Given the description of an element on the screen output the (x, y) to click on. 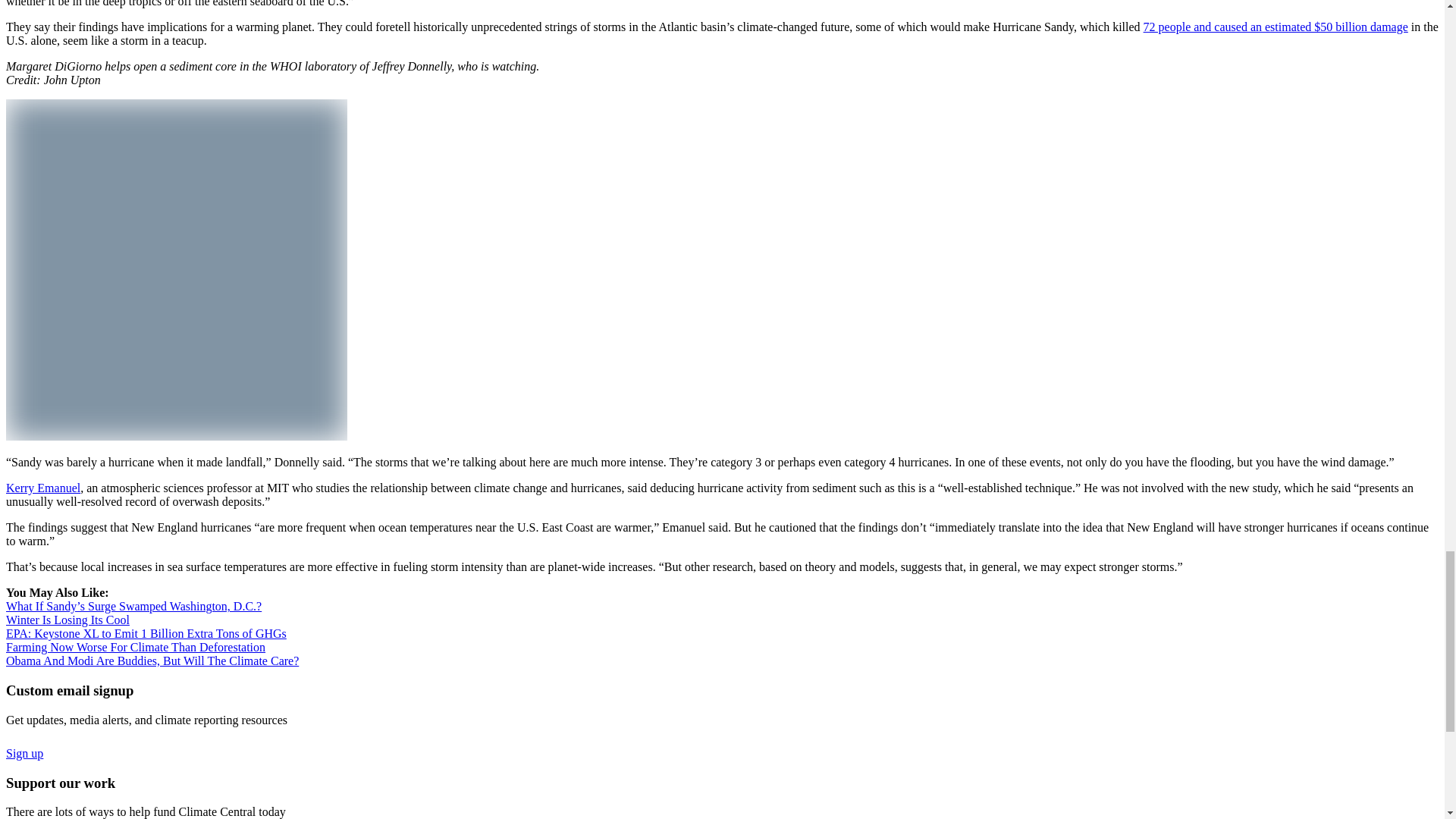
Image (176, 269)
EPA: Keystone XL to Emit 1 Billion Extra Tons of GHGs (145, 633)
Obama And Modi Are Buddies, But Will The Climate Care? (151, 660)
Winter Is Losing Its Cool (67, 619)
Farming Now Worse For Climate Than Deforestation (134, 646)
Kerry Emanuel (42, 487)
